Given the description of an element on the screen output the (x, y) to click on. 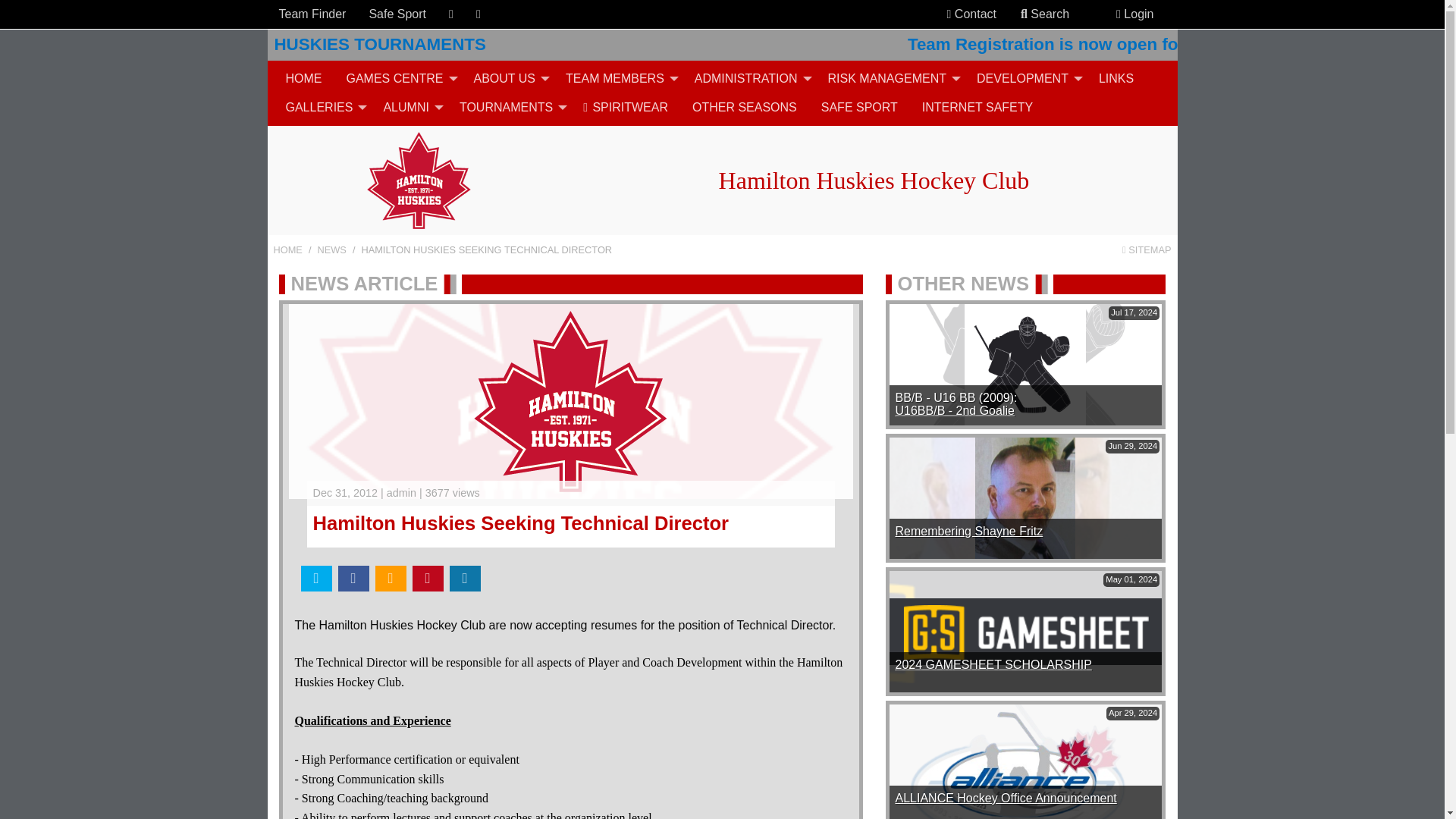
Twitter (478, 14)
Contacts (949, 14)
Safe Sport (397, 13)
HOME (303, 77)
Facebook (450, 14)
Go to the sitemap page for this website (1146, 249)
List of News (331, 249)
 Contact (971, 14)
 Search (1045, 14)
GAMES CENTRE (397, 77)
 Login (1134, 14)
HUSKIES TOURNAMENTS (721, 44)
Search (1023, 14)
ABOUT US (507, 77)
Team Finder (312, 13)
